Given the description of an element on the screen output the (x, y) to click on. 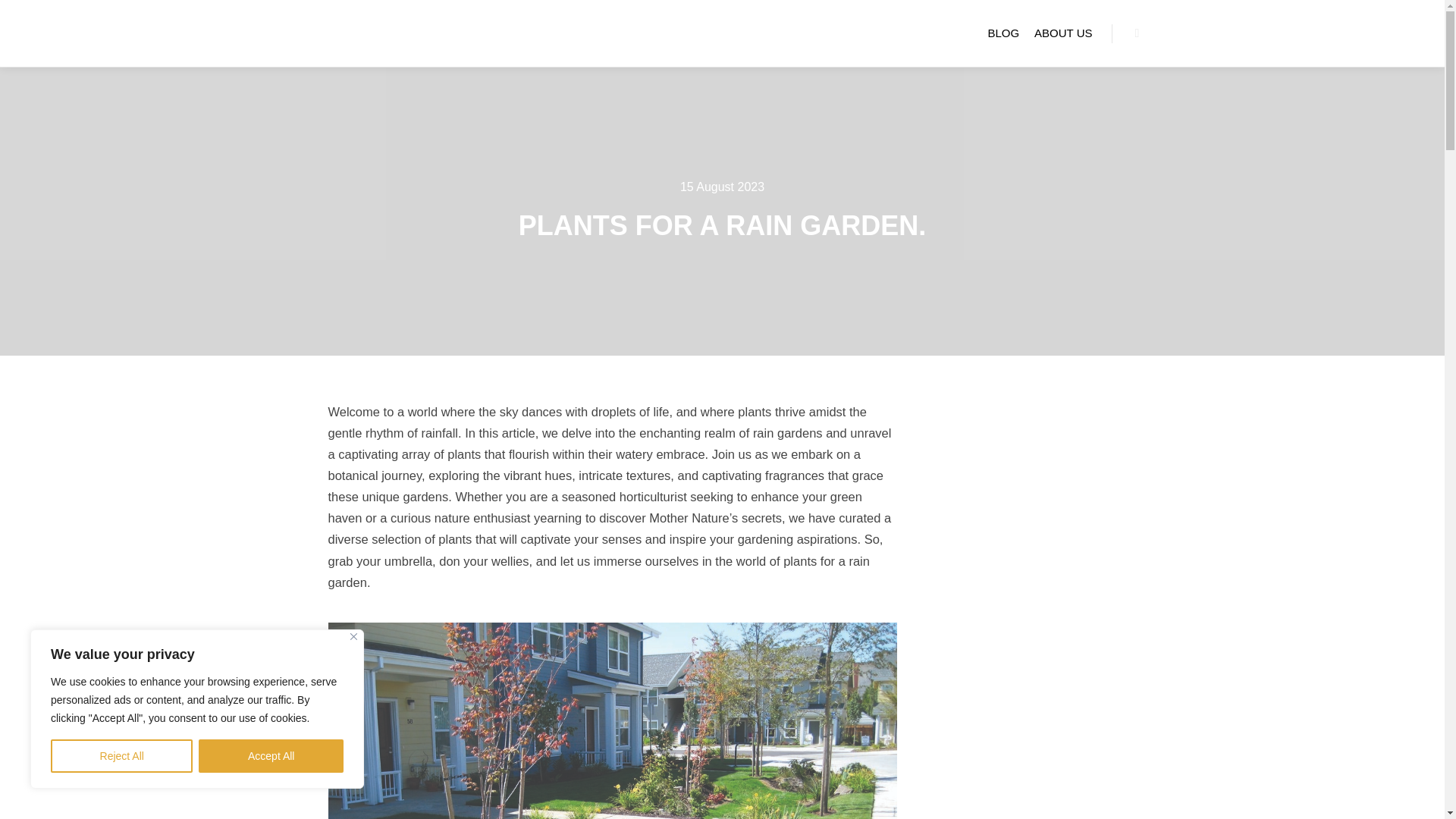
Reject All (121, 756)
Search (1137, 33)
Accept All (270, 756)
Search (1137, 33)
ABOUT US (1062, 33)
HELP FOR YOU (357, 33)
